Given the description of an element on the screen output the (x, y) to click on. 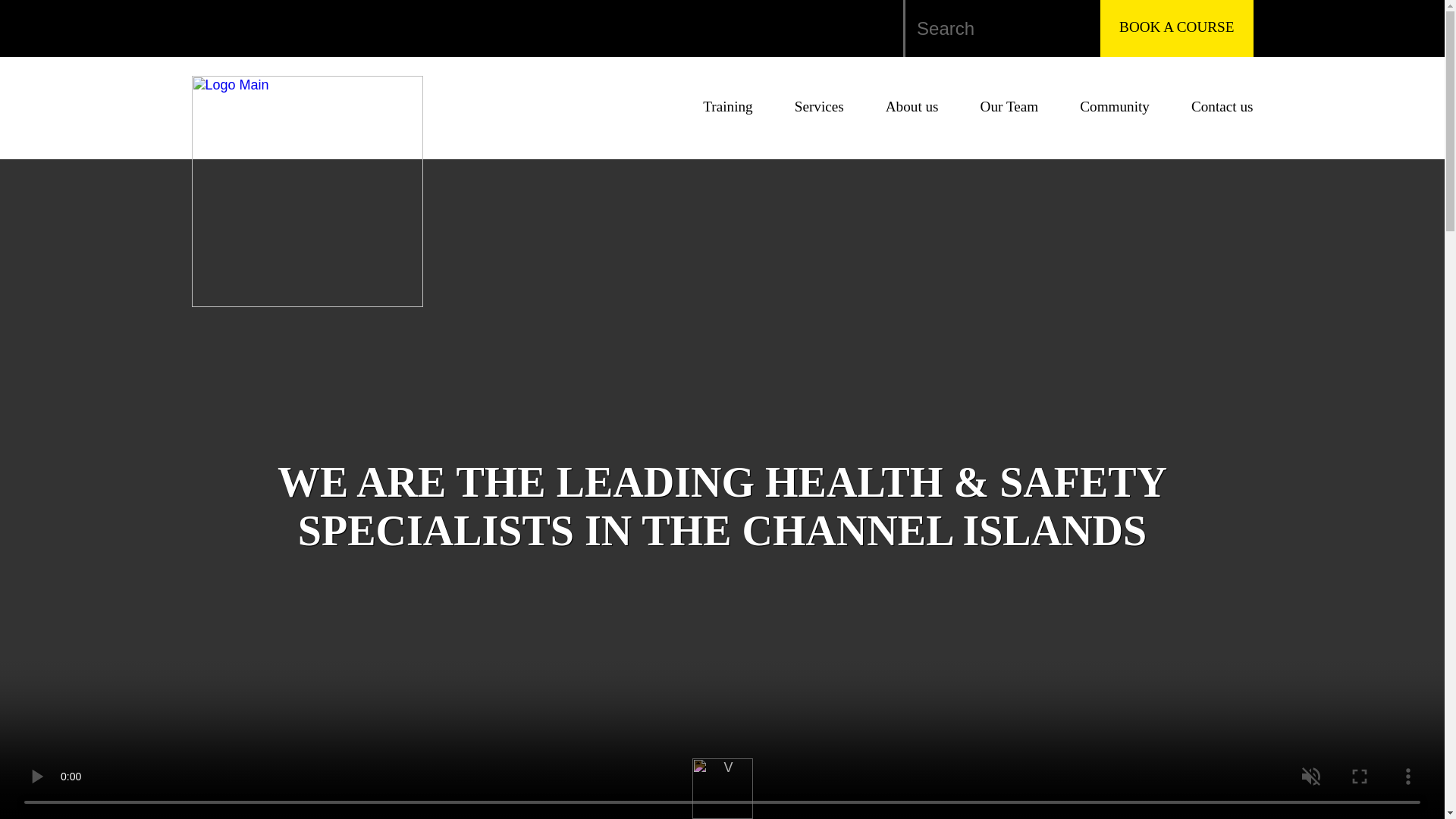
BOOK A COURSE (1176, 28)
Services (819, 106)
Our Team (1009, 106)
Training (727, 106)
About us (912, 106)
Contact us (1222, 106)
Community (1115, 106)
